Given the description of an element on the screen output the (x, y) to click on. 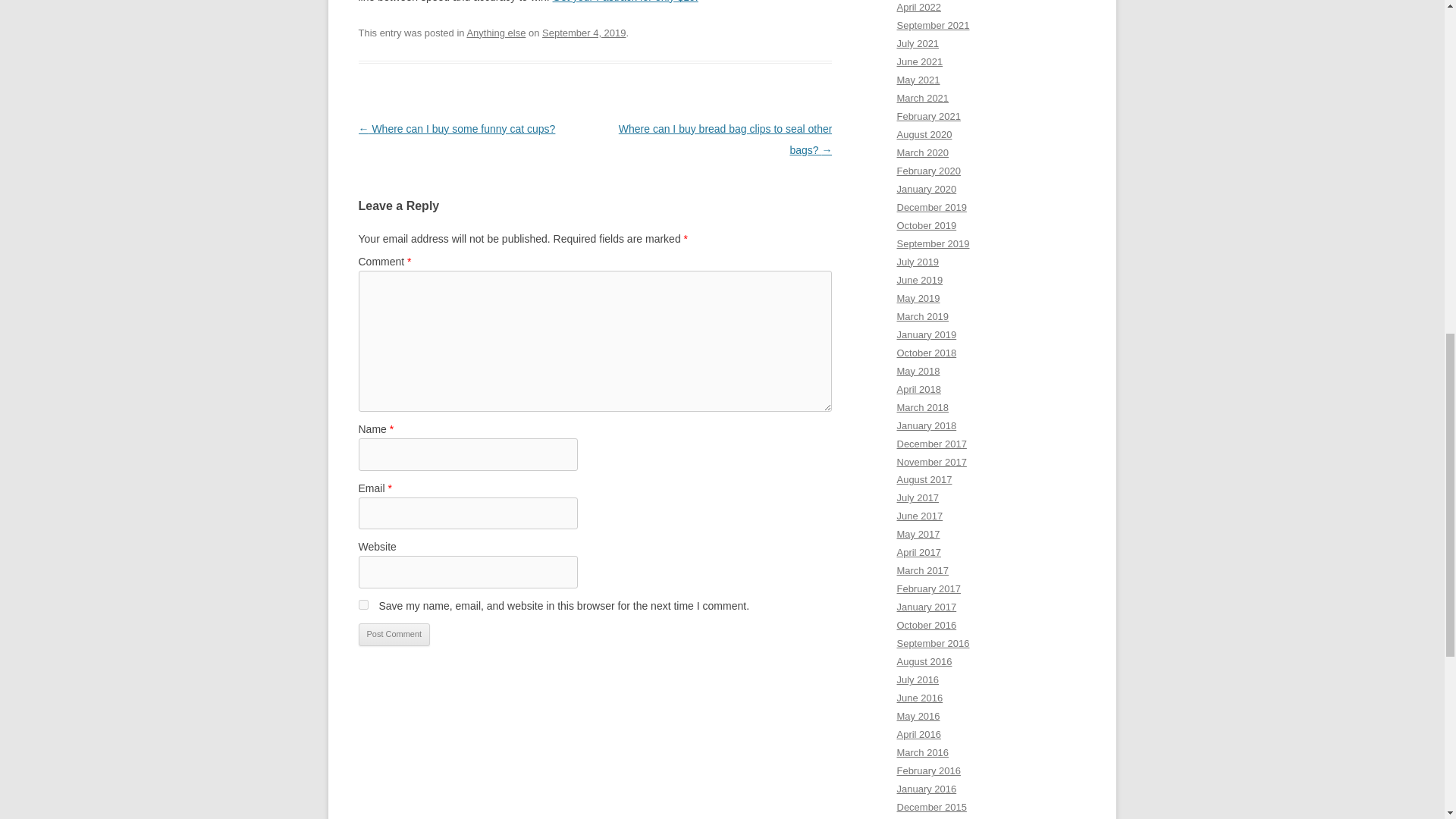
September 4, 2019 (583, 32)
March 2021 (922, 98)
June 2021 (919, 61)
July 2021 (917, 43)
yes (363, 604)
May 2021 (917, 79)
April 2022 (918, 7)
Post Comment (393, 634)
February 2021 (927, 116)
Post Comment (393, 634)
